Given the description of an element on the screen output the (x, y) to click on. 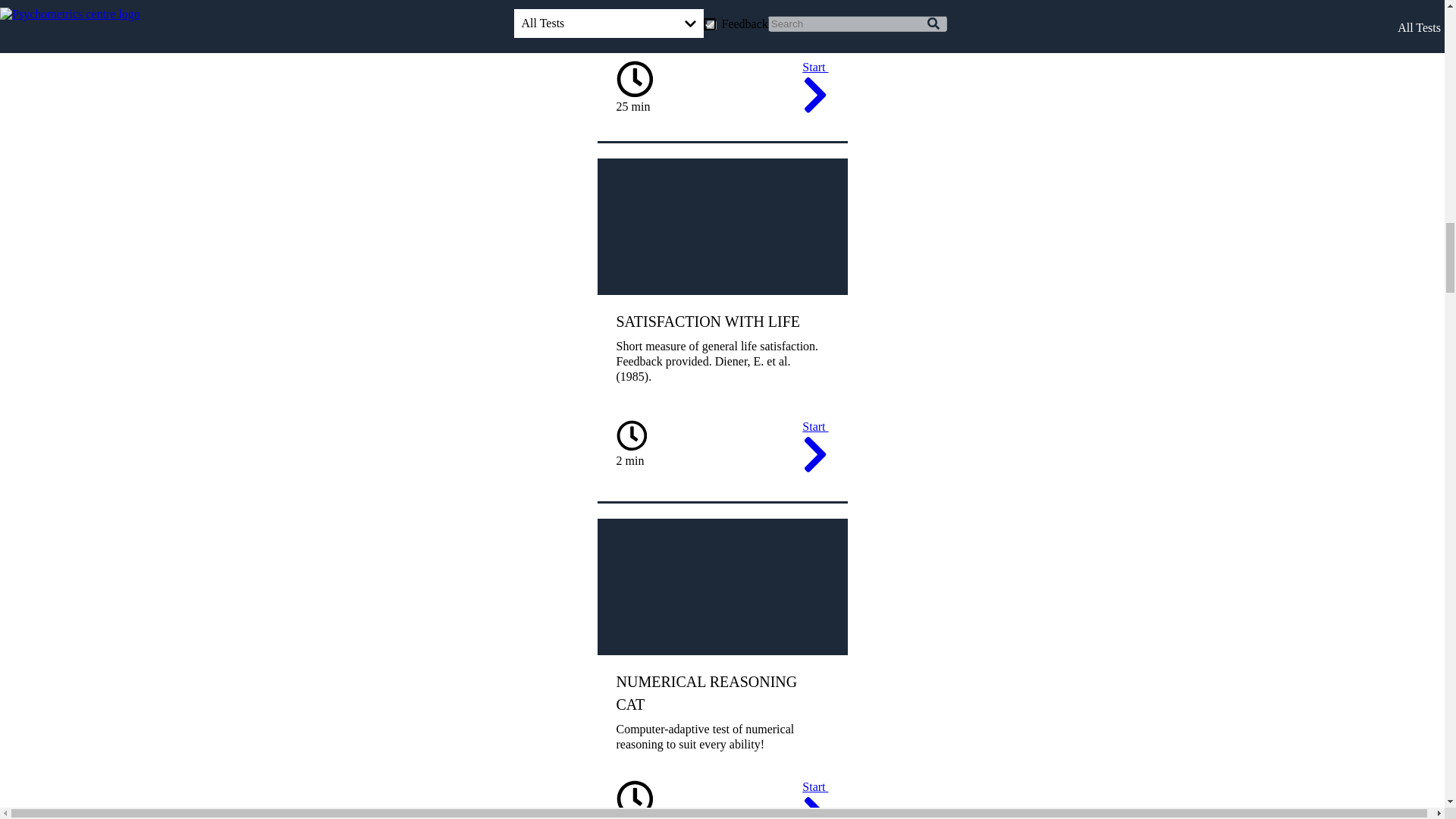
Start  (815, 89)
Start  (815, 799)
Start  (815, 449)
